Given the description of an element on the screen output the (x, y) to click on. 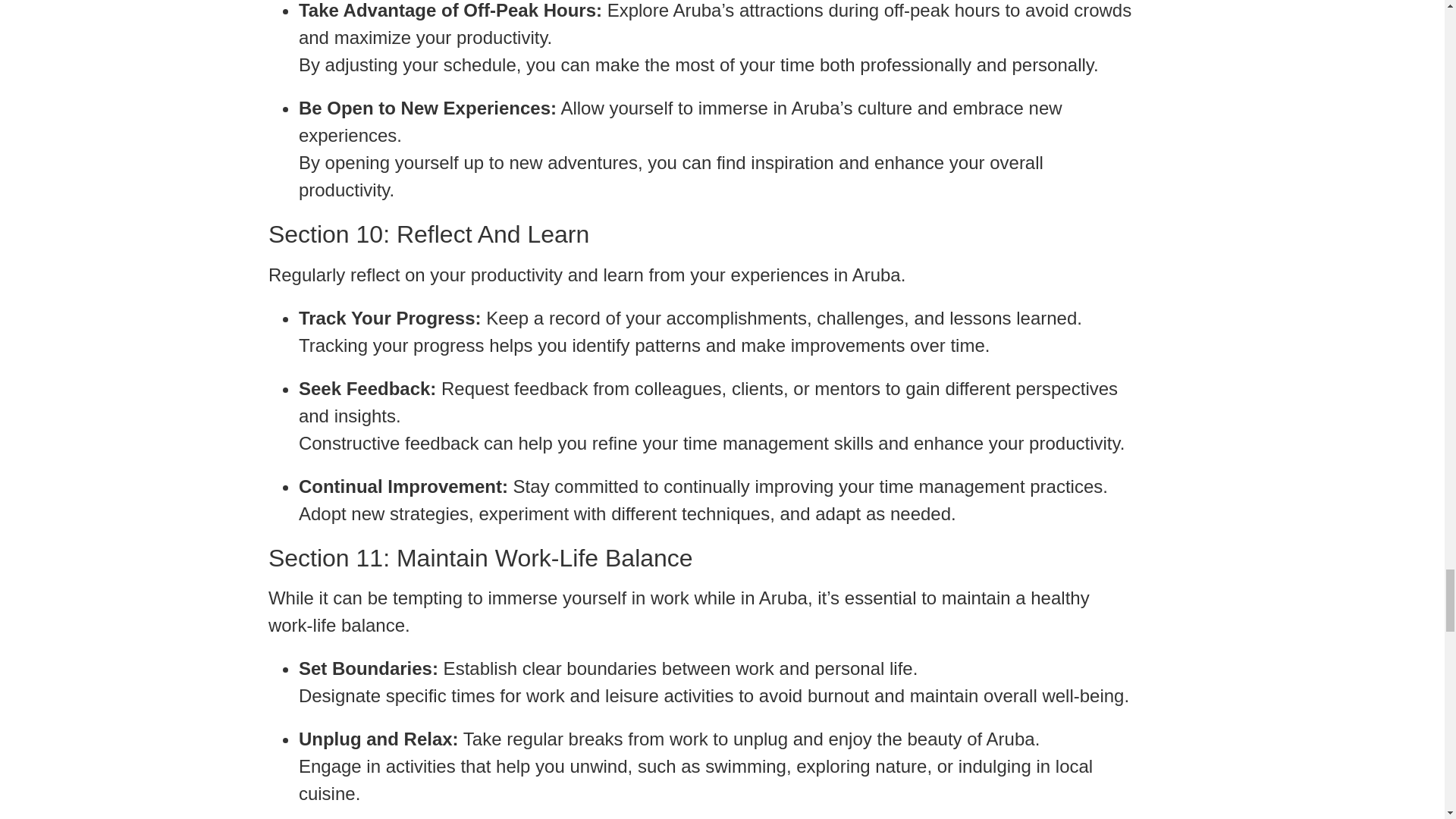
Section 10: Reflect and Learn (699, 234)
Section 11: Maintain Work-Life Balance (699, 557)
